Given the description of an element on the screen output the (x, y) to click on. 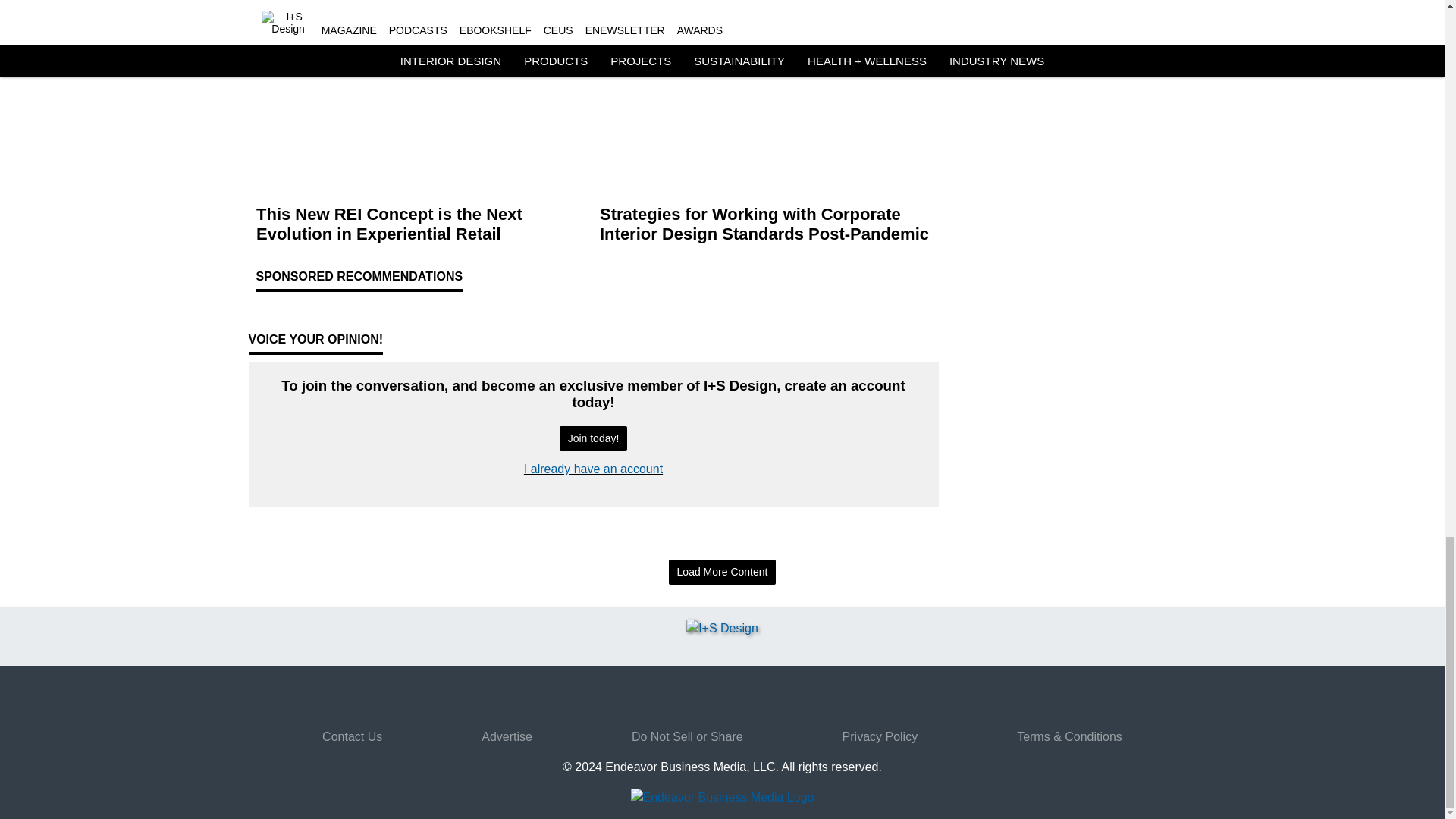
Join today! (593, 438)
Load More Content (722, 571)
I already have an account (593, 468)
